Given the description of an element on the screen output the (x, y) to click on. 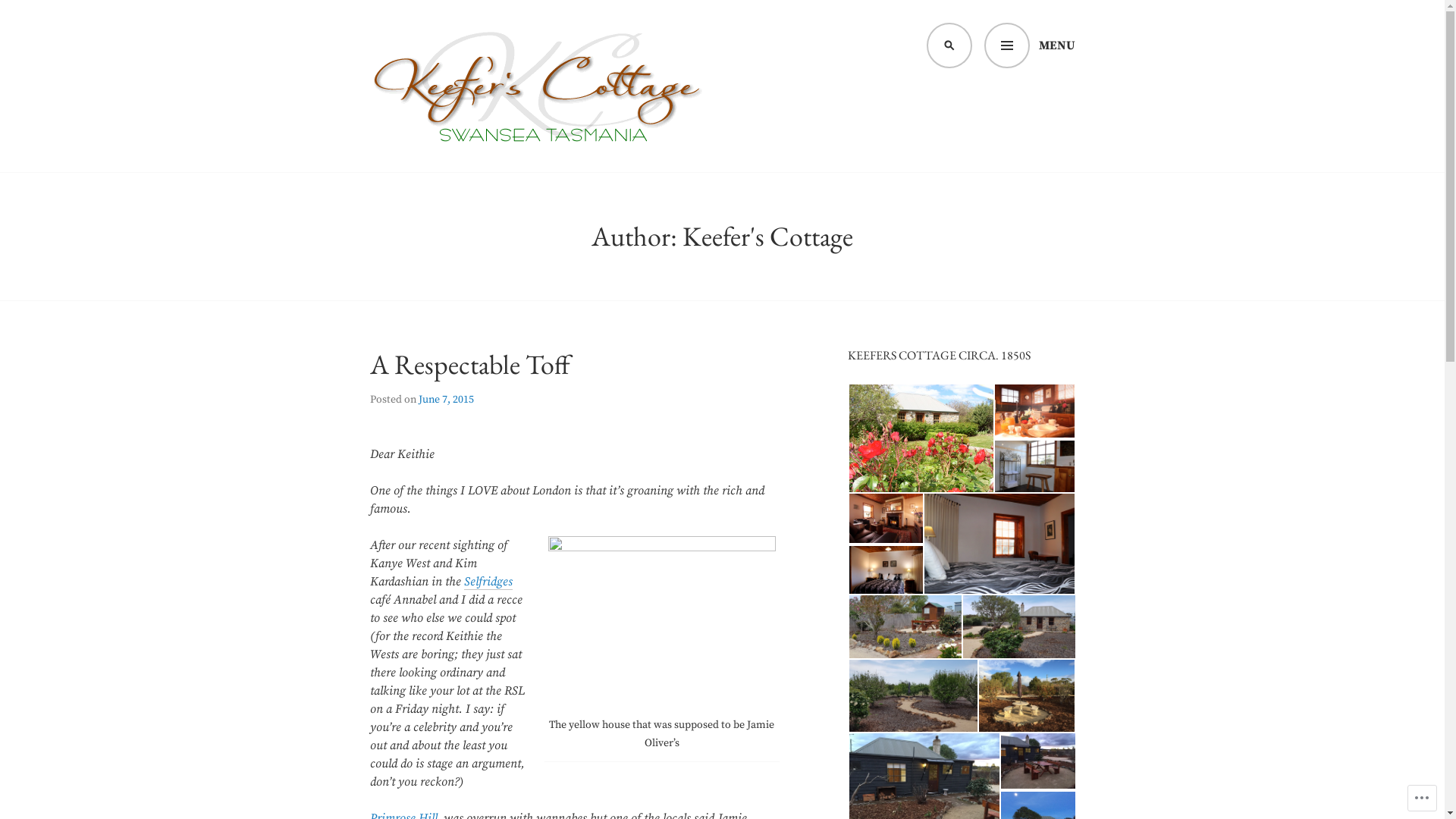
Bed 1 Element type: hover (885, 570)
Living room with wood heater Element type: hover (885, 517)
KEEFER'S COTTAGE Element type: text (494, 174)
AFTER WS HR Rear Cottage Table WS Element type: hover (1038, 760)
Keefer's Cottage c.1850 in summer Element type: hover (921, 438)
Bed 2 Element type: hover (998, 543)
June 7, 2015 Element type: text (445, 399)
MENU Element type: text (1029, 45)
Rear Courtyard Element type: hover (905, 626)
Selfridges Element type: text (488, 581)
Keefer's kitchen Element type: hover (1034, 410)
Orchard setting Element type: hover (913, 695)
A Respectable Toff Element type: text (470, 364)
AFTER WS HR Orchard Winter Element type: hover (1025, 695)
Front Gardens Element type: hover (1019, 626)
Bath landscape Element type: hover (1034, 466)
